Given the description of an element on the screen output the (x, y) to click on. 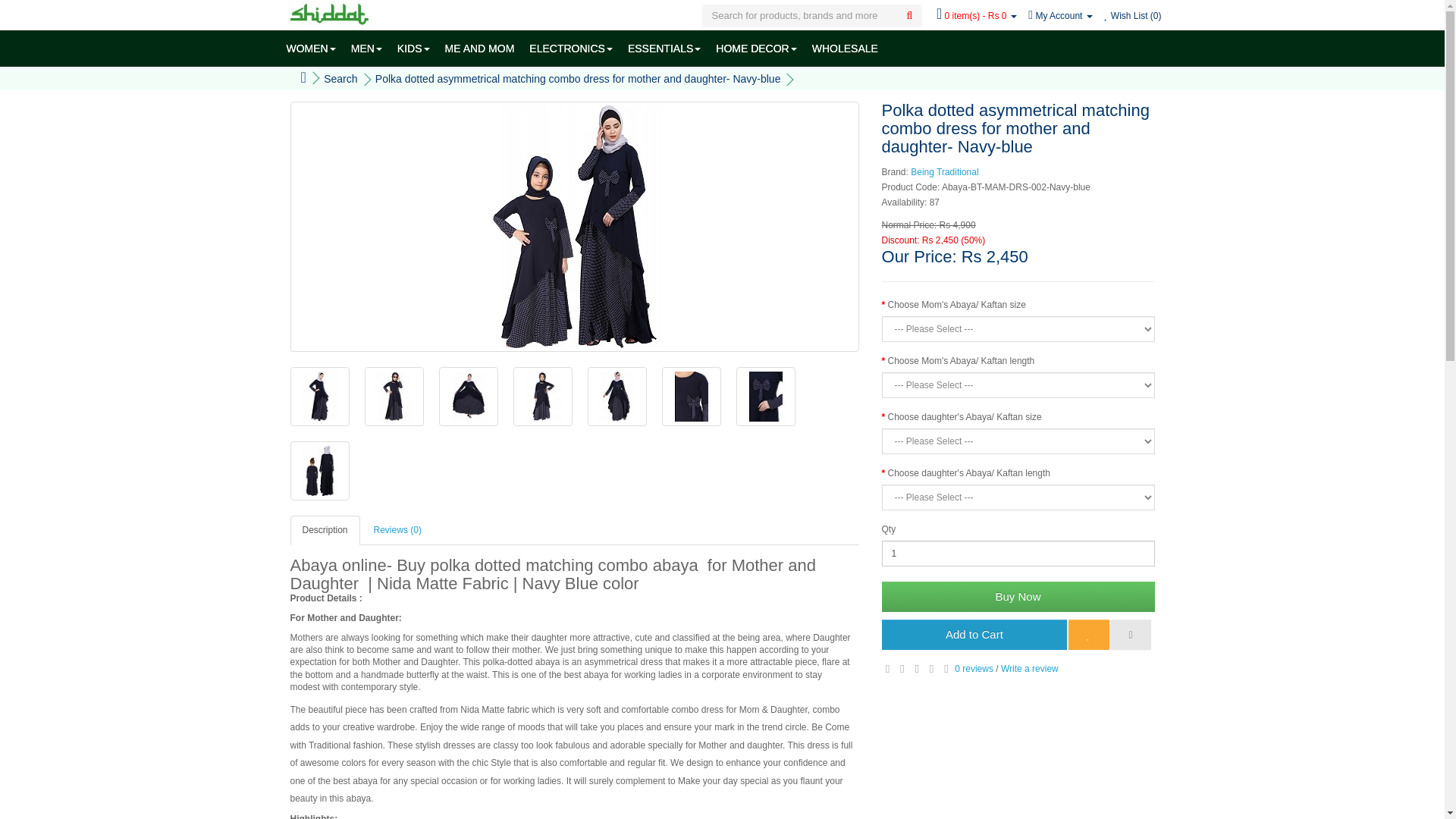
1 (1018, 553)
KIDS (414, 48)
WOMEN (311, 48)
Shiddat (329, 13)
MEN (366, 48)
My Account (1060, 15)
